Given the description of an element on the screen output the (x, y) to click on. 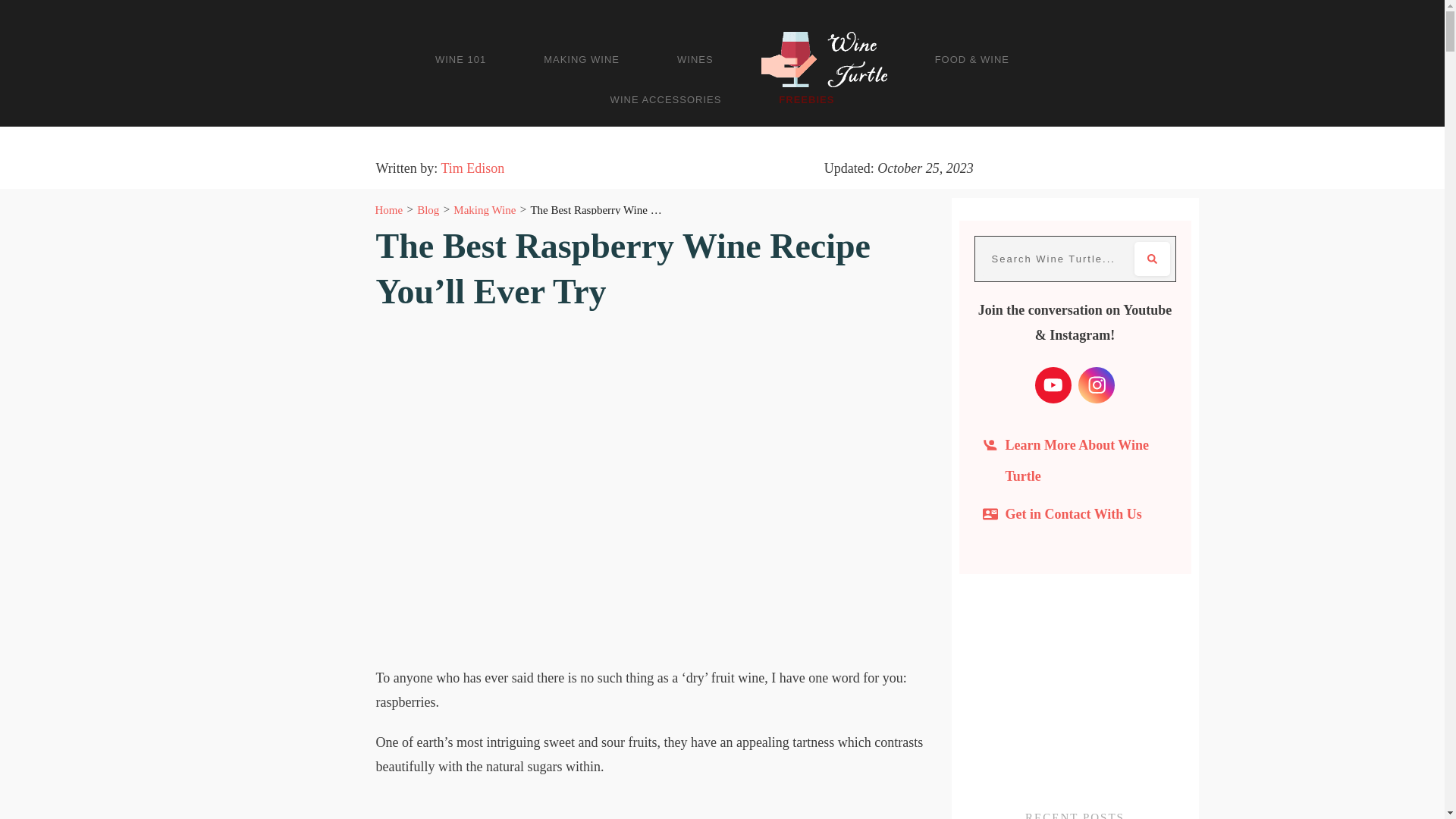
FREEBIES (806, 99)
Tim Edison (472, 168)
Making Wine (483, 209)
Tim Edison (472, 168)
WINES (695, 59)
MAKING WINE (581, 59)
WINE 101 (460, 59)
Blog (427, 209)
WINE ACCESSORIES (666, 99)
